Given the description of an element on the screen output the (x, y) to click on. 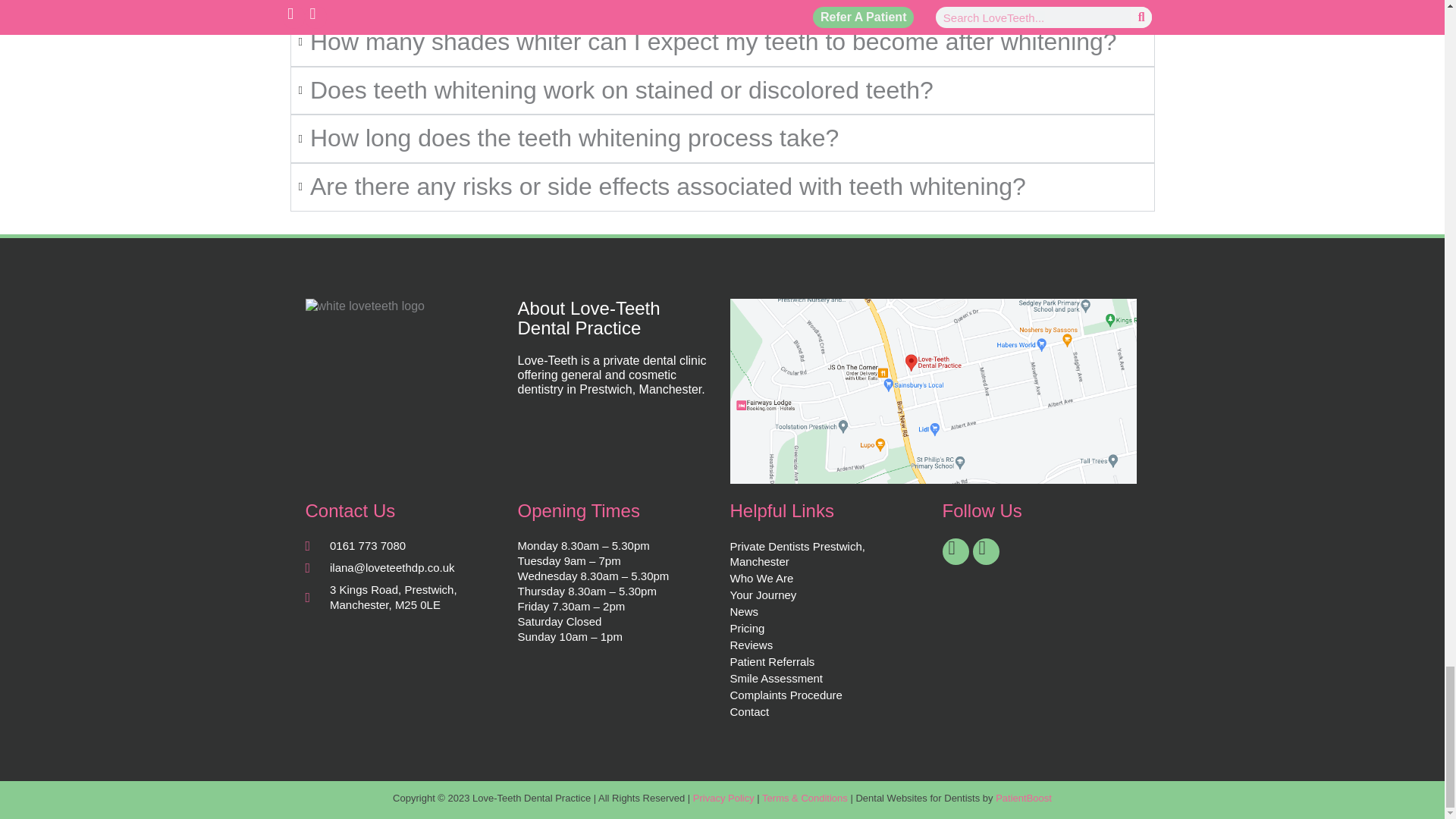
white loveteeth logo (363, 305)
